Given the description of an element on the screen output the (x, y) to click on. 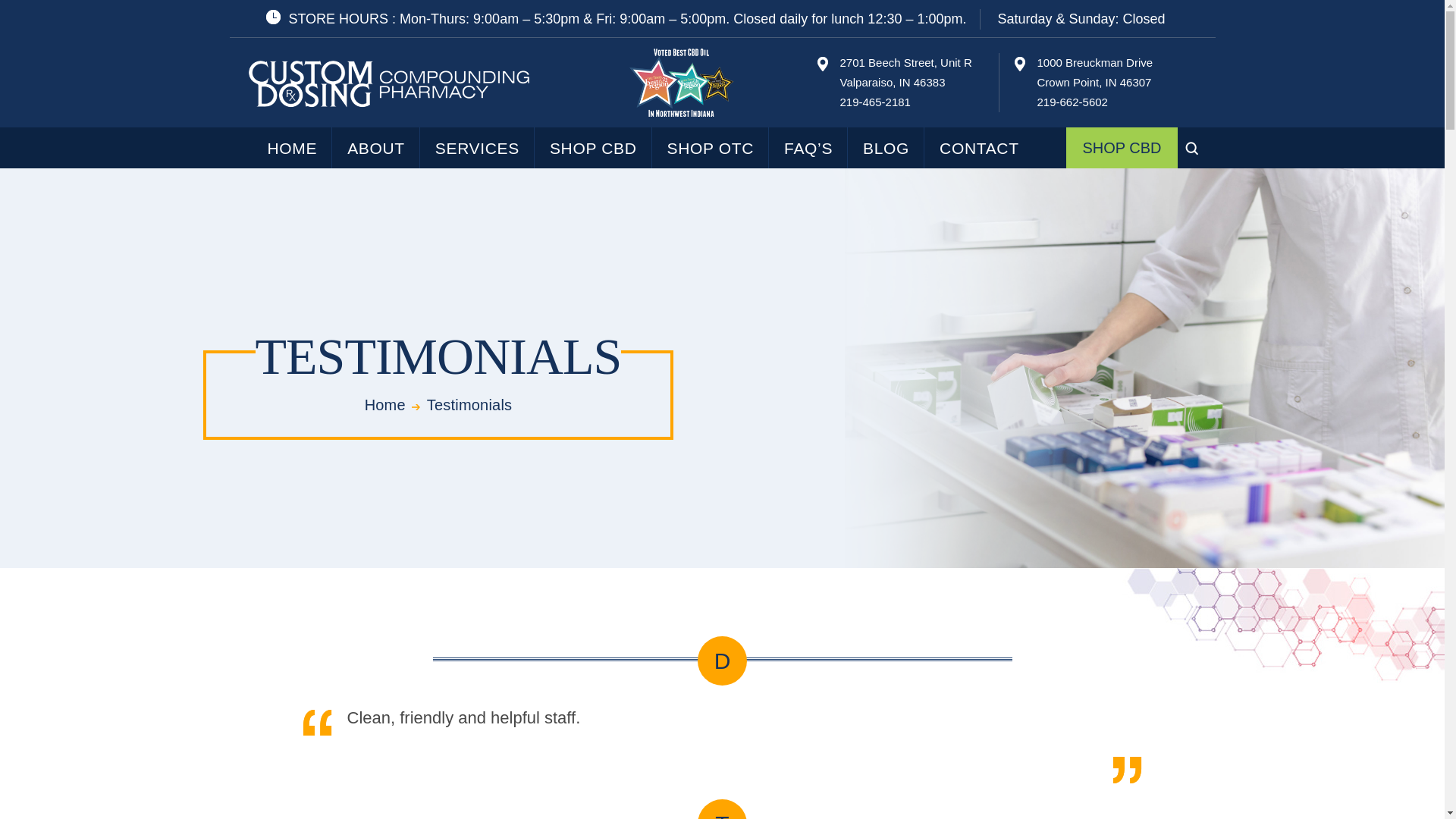
219-465-2181 (875, 101)
Go to Custom Dosing Pharmacy. (1094, 72)
SHOP CBD (906, 72)
SHOP OTC (385, 404)
SERVICES (593, 147)
219-662-5602 (711, 147)
ABOUT (477, 147)
HOME (1072, 101)
